Given the description of an element on the screen output the (x, y) to click on. 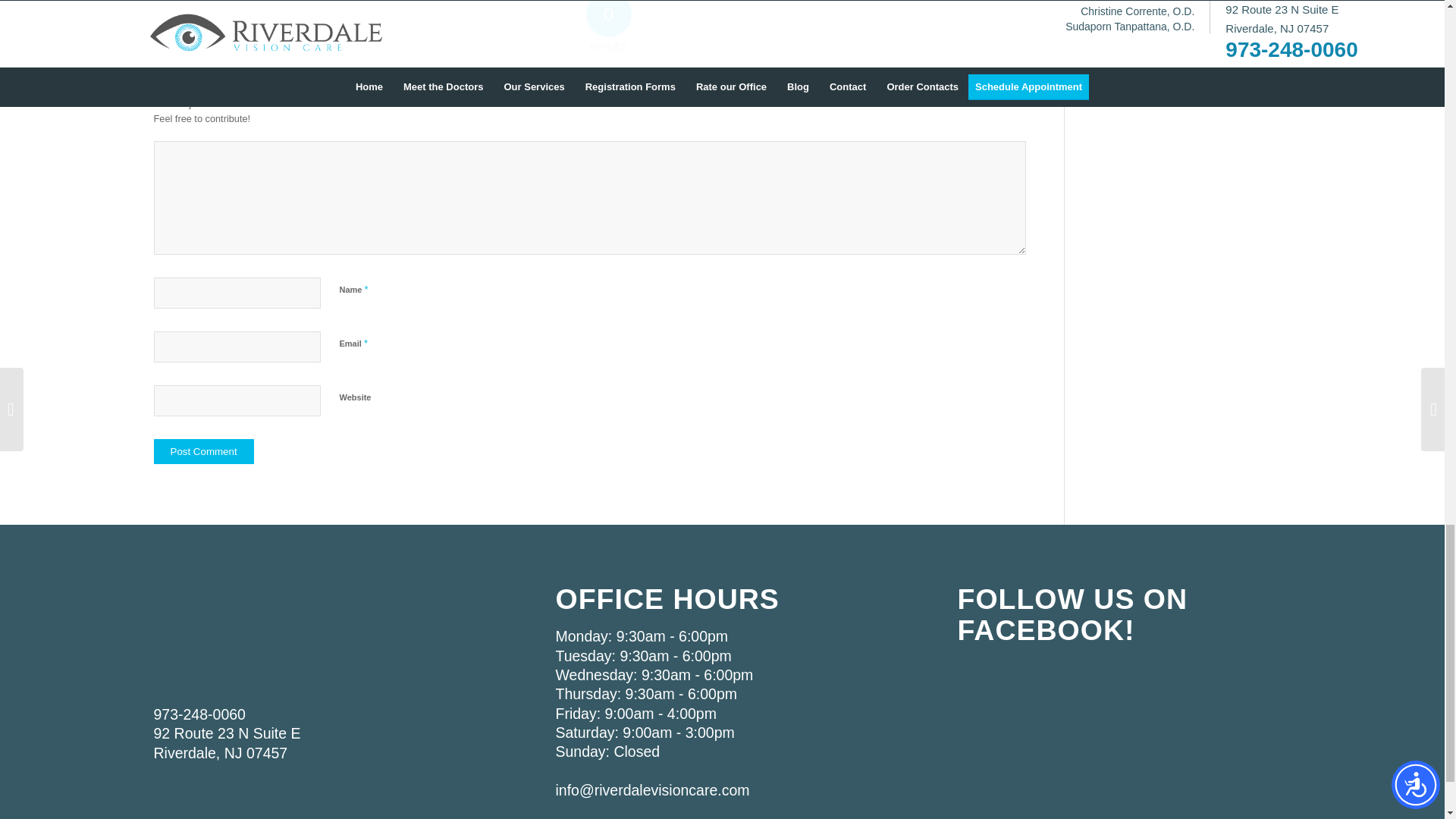
Post Comment (202, 451)
